Given the description of an element on the screen output the (x, y) to click on. 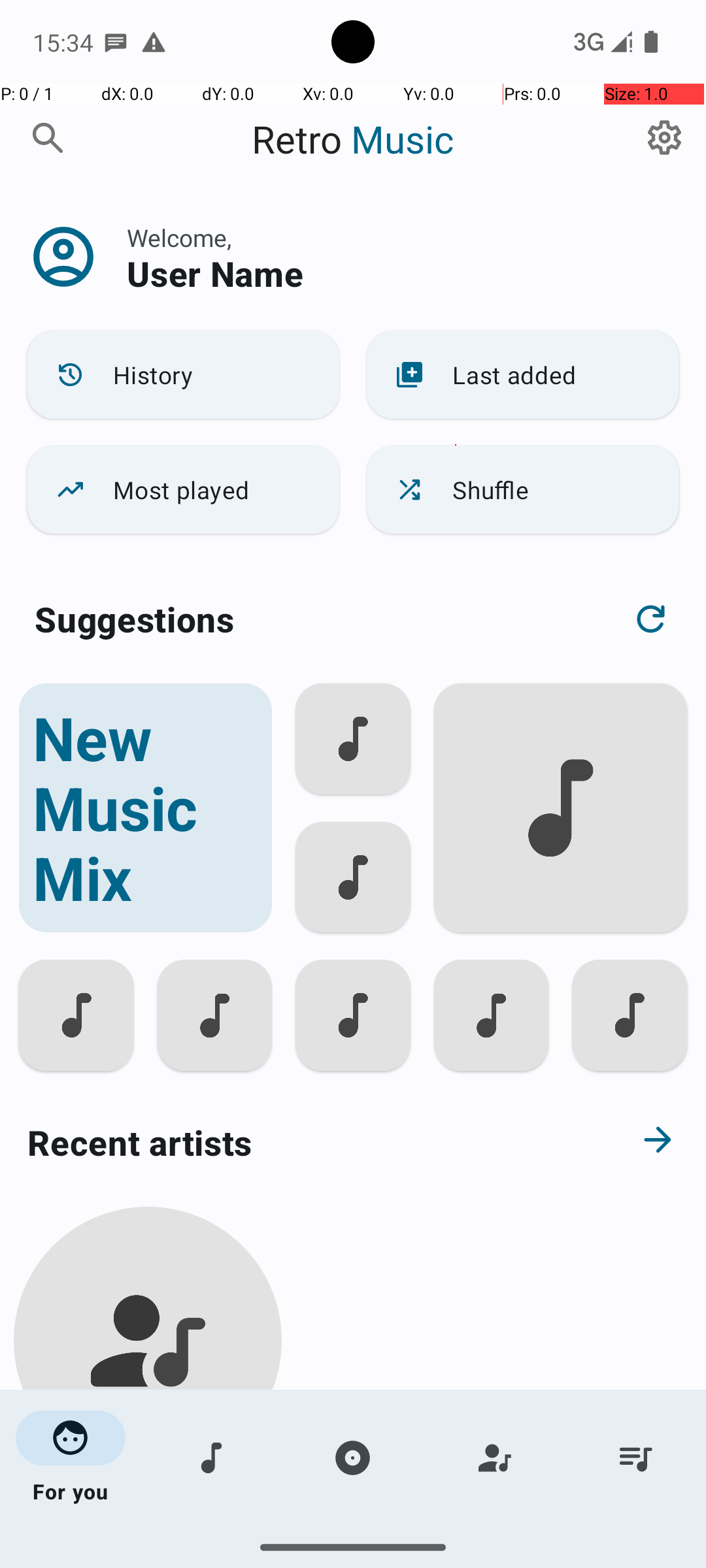
Thiago Element type: android.widget.TextView (147, 1503)
